Given the description of an element on the screen output the (x, y) to click on. 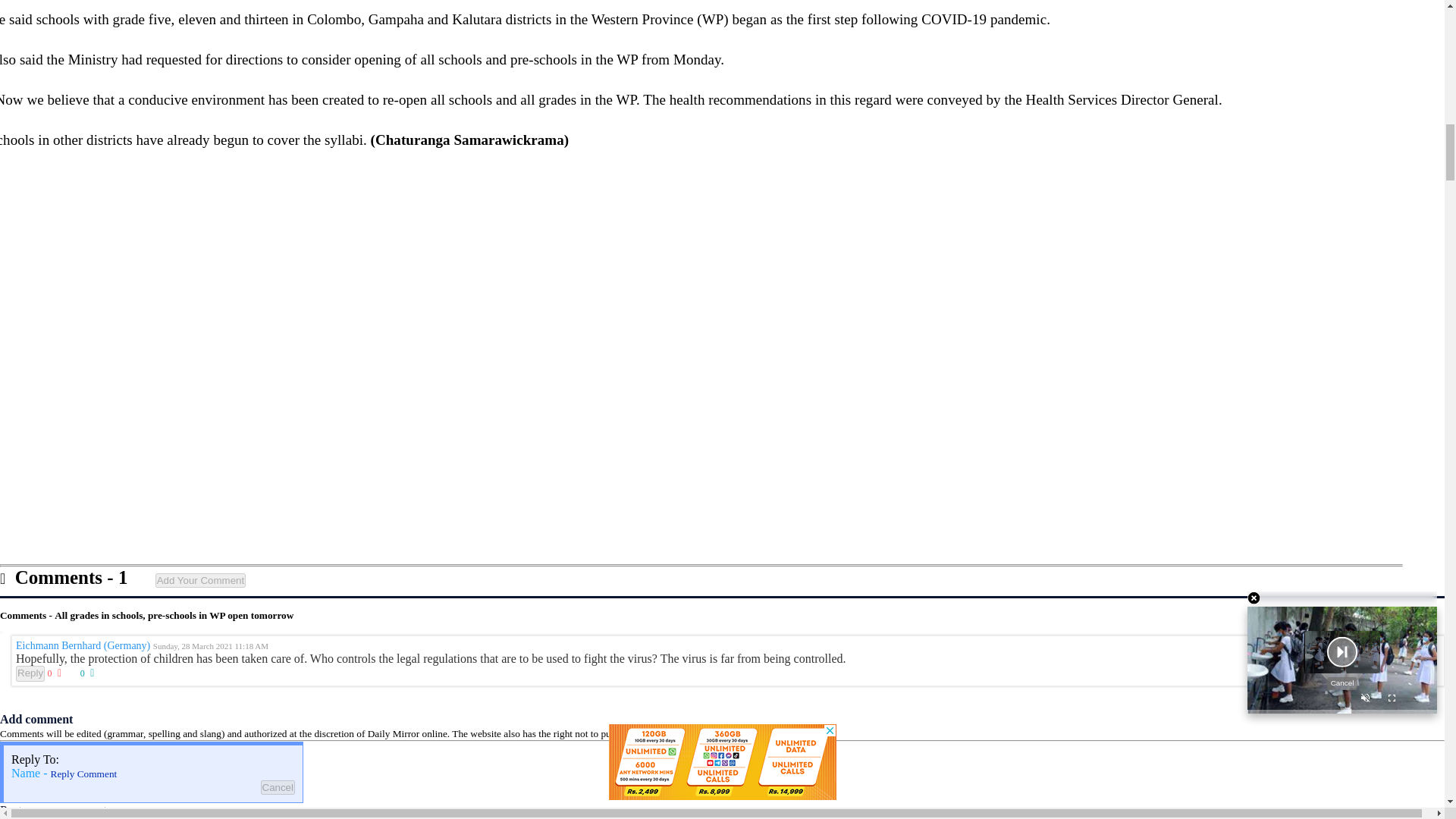
3rd party ad content (721, 264)
3rd party ad content (721, 461)
